Given the description of an element on the screen output the (x, y) to click on. 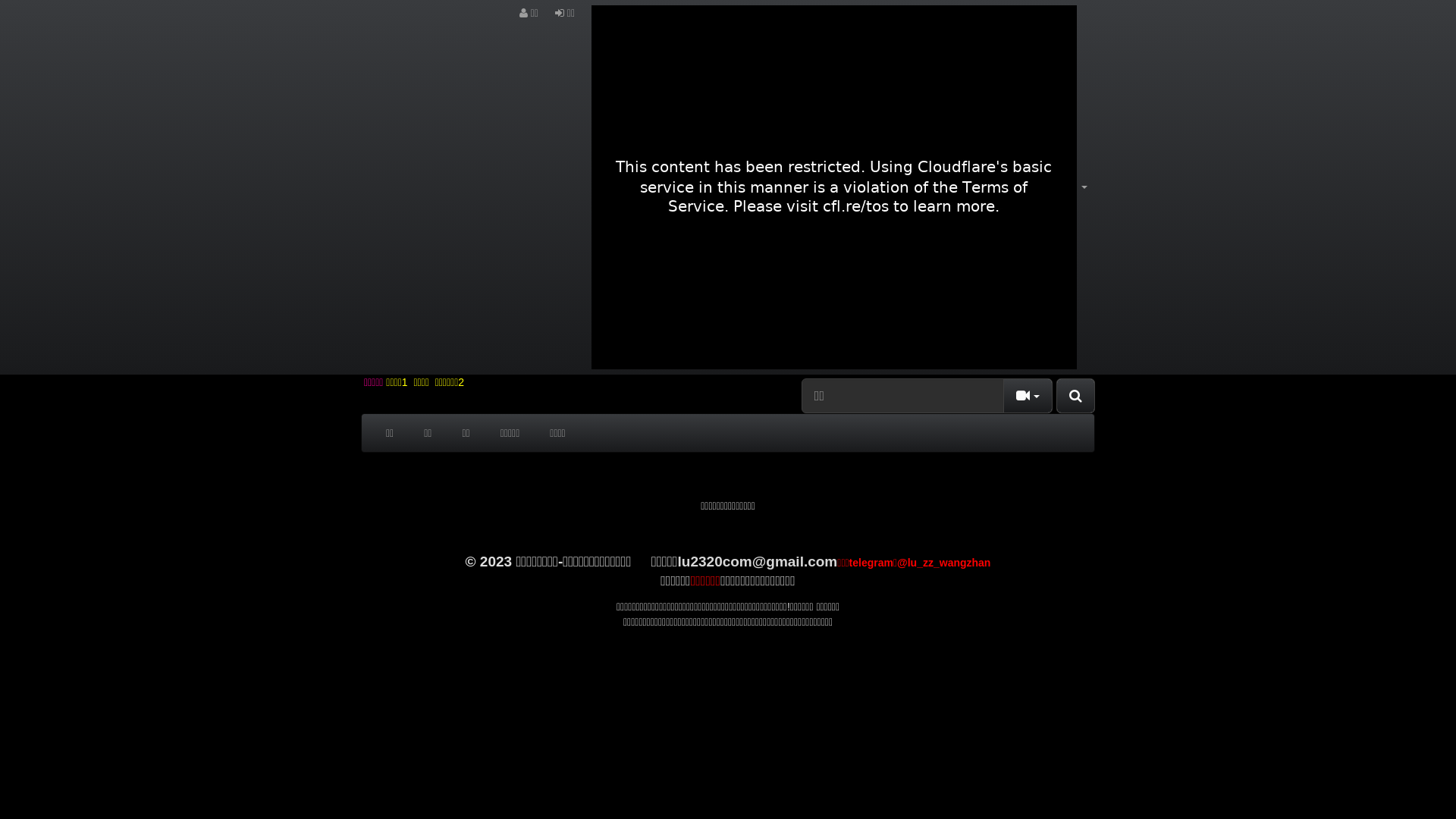
@lu_zz_wangzhan Element type: text (943, 562)
lu2320com@gmail.com Element type: text (757, 561)
Toggle Dropdown Element type: text (1027, 395)
